Given the description of an element on the screen output the (x, y) to click on. 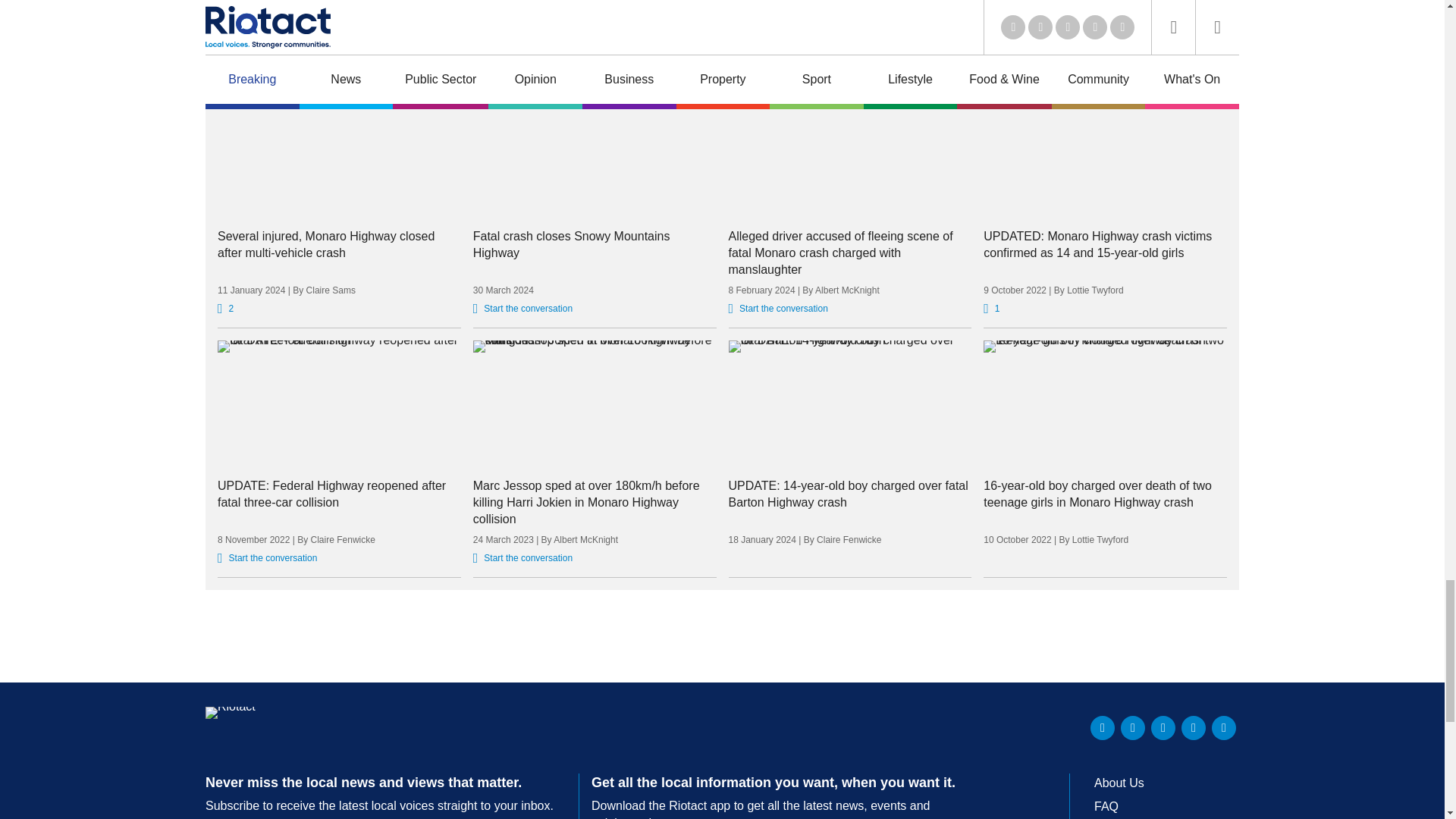
Instagram (1223, 727)
Youtube (1162, 727)
Twitter (1132, 727)
LinkedIn (1102, 727)
Facebook (1192, 727)
